Given the description of an element on the screen output the (x, y) to click on. 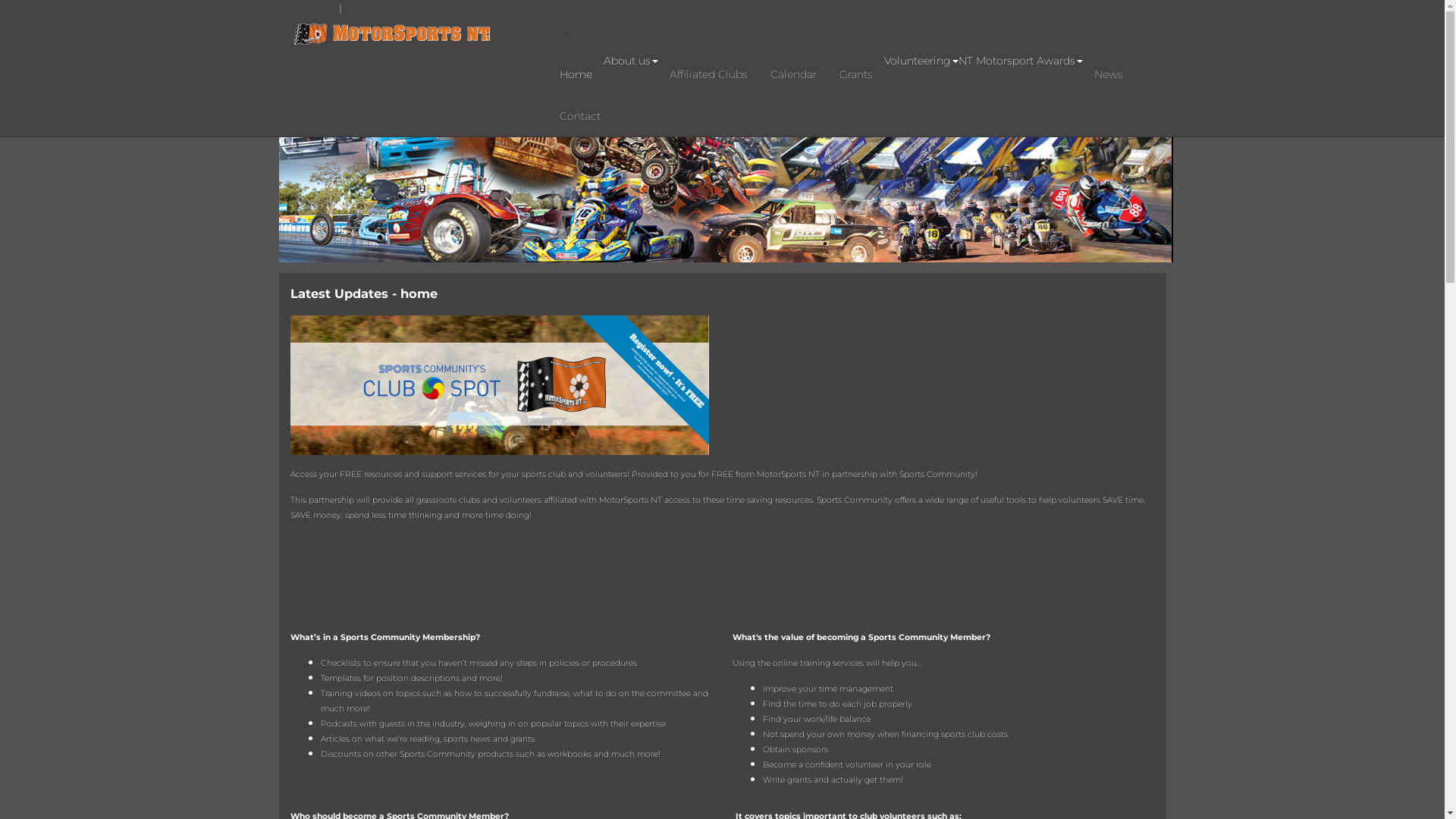
08  89472733 Element type: text (378, 7)
Grants Element type: text (856, 73)
Sports Community Club Spot Element type: hover (498, 384)
Home Element type: text (574, 73)
Member Protection Policy Element type: text (350, 542)
Contact Element type: text (579, 115)
Calendar Element type: text (792, 73)
NT Sport Integrity Toolkit Element type: text (347, 596)
News Element type: text (1108, 73)
Affiliated Clubs Element type: text (708, 73)
Ochre Cards Element type: text (317, 569)
Email us Element type: text (313, 7)
MotorSports NT Element type: text (433, 33)
